Given the description of an element on the screen output the (x, y) to click on. 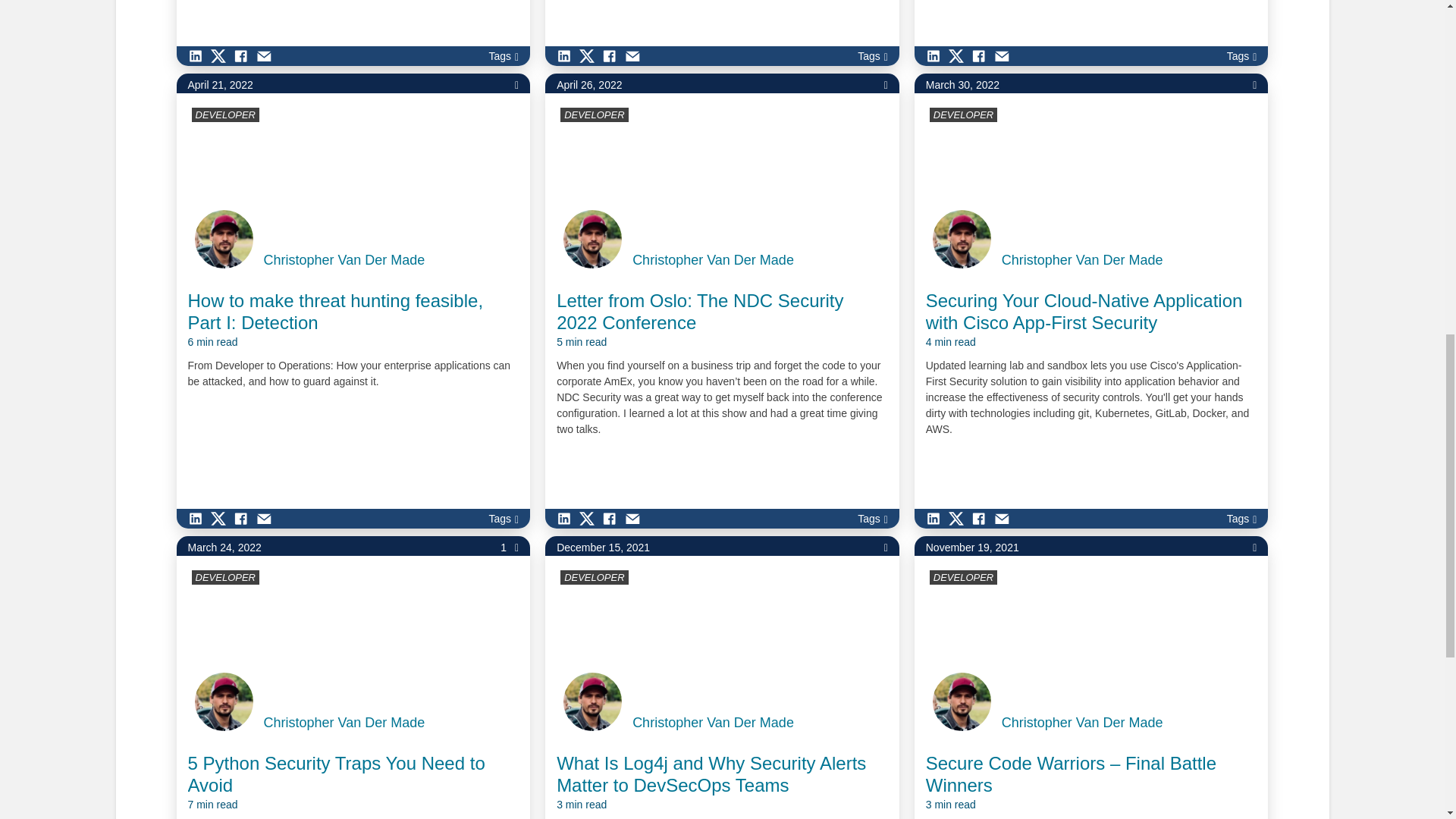
Posts by Christopher Van Der Made (344, 722)
Posts by Christopher Van Der Made (1082, 260)
Posts by Christopher Van Der Made (712, 260)
Posts by Christopher Van Der Made (712, 722)
Posts by Christopher Van Der Made (344, 260)
Posts by Christopher Van Der Made (1082, 722)
